Given the description of an element on the screen output the (x, y) to click on. 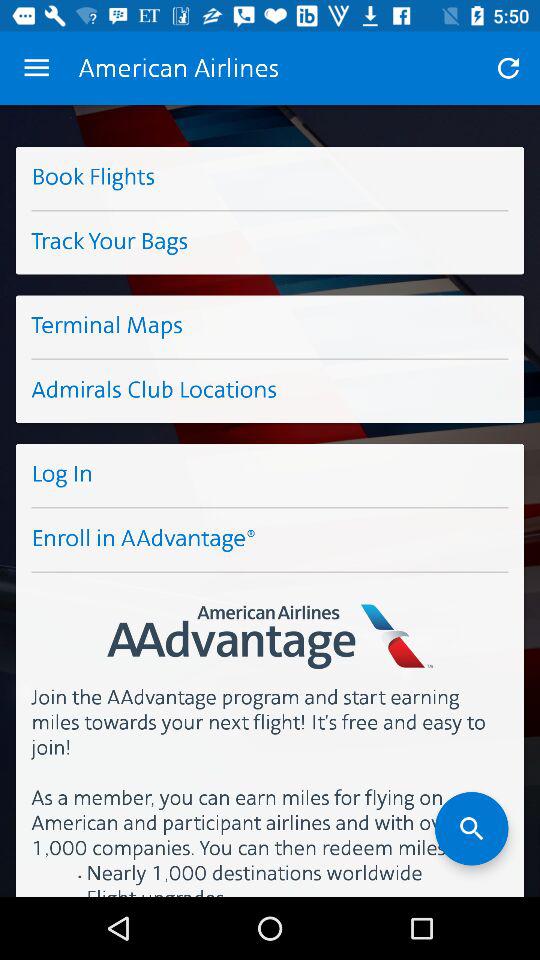
turn off the item at the top right corner (508, 67)
